Given the description of an element on the screen output the (x, y) to click on. 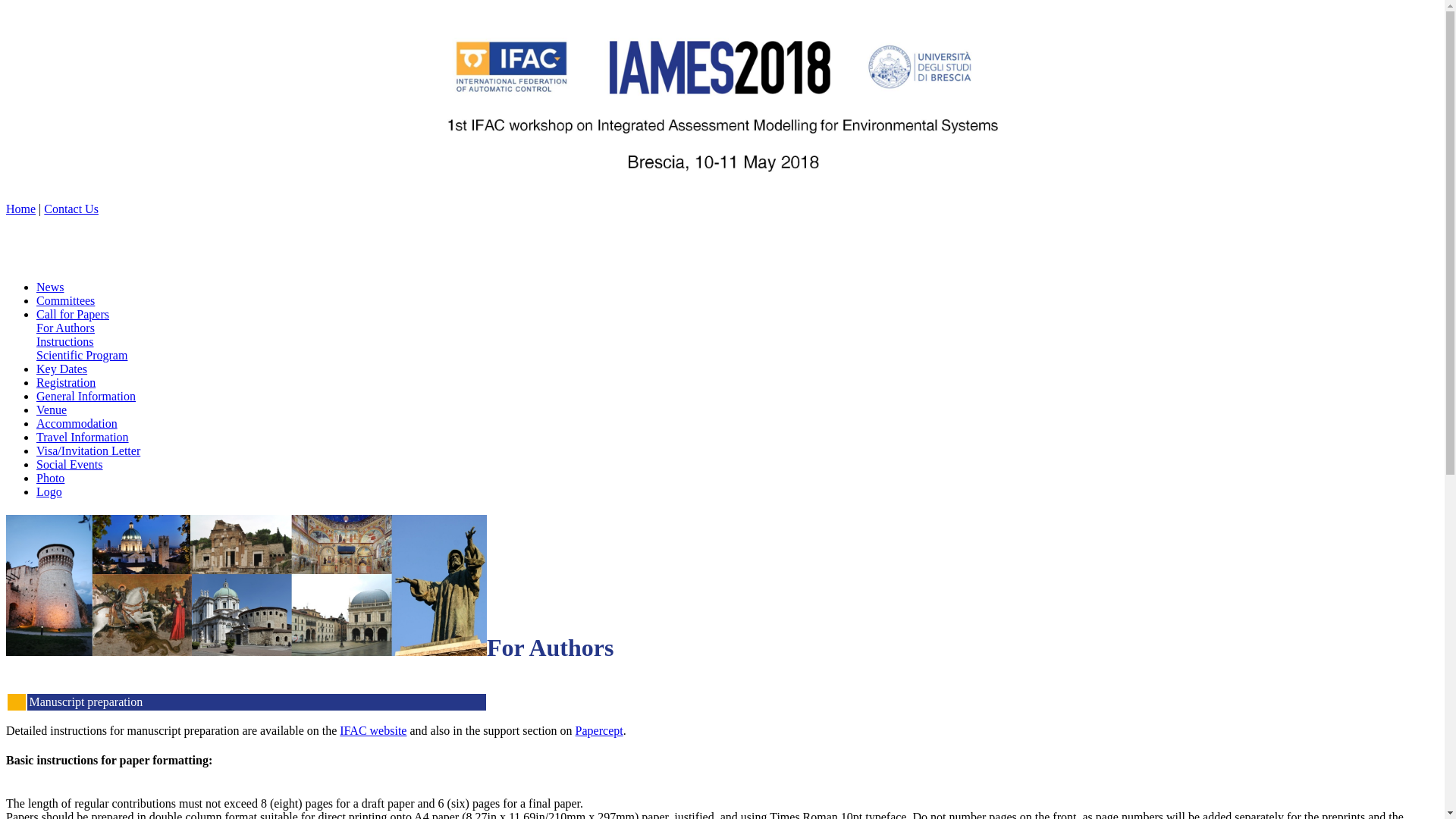
Travel Information (82, 436)
IFAC website (372, 730)
Accommodation (76, 422)
Scientific Program (82, 354)
Instructions (65, 341)
Home (19, 208)
Registration (66, 382)
Logo (49, 491)
Contact Us (71, 208)
News (50, 286)
